Given the description of an element on the screen output the (x, y) to click on. 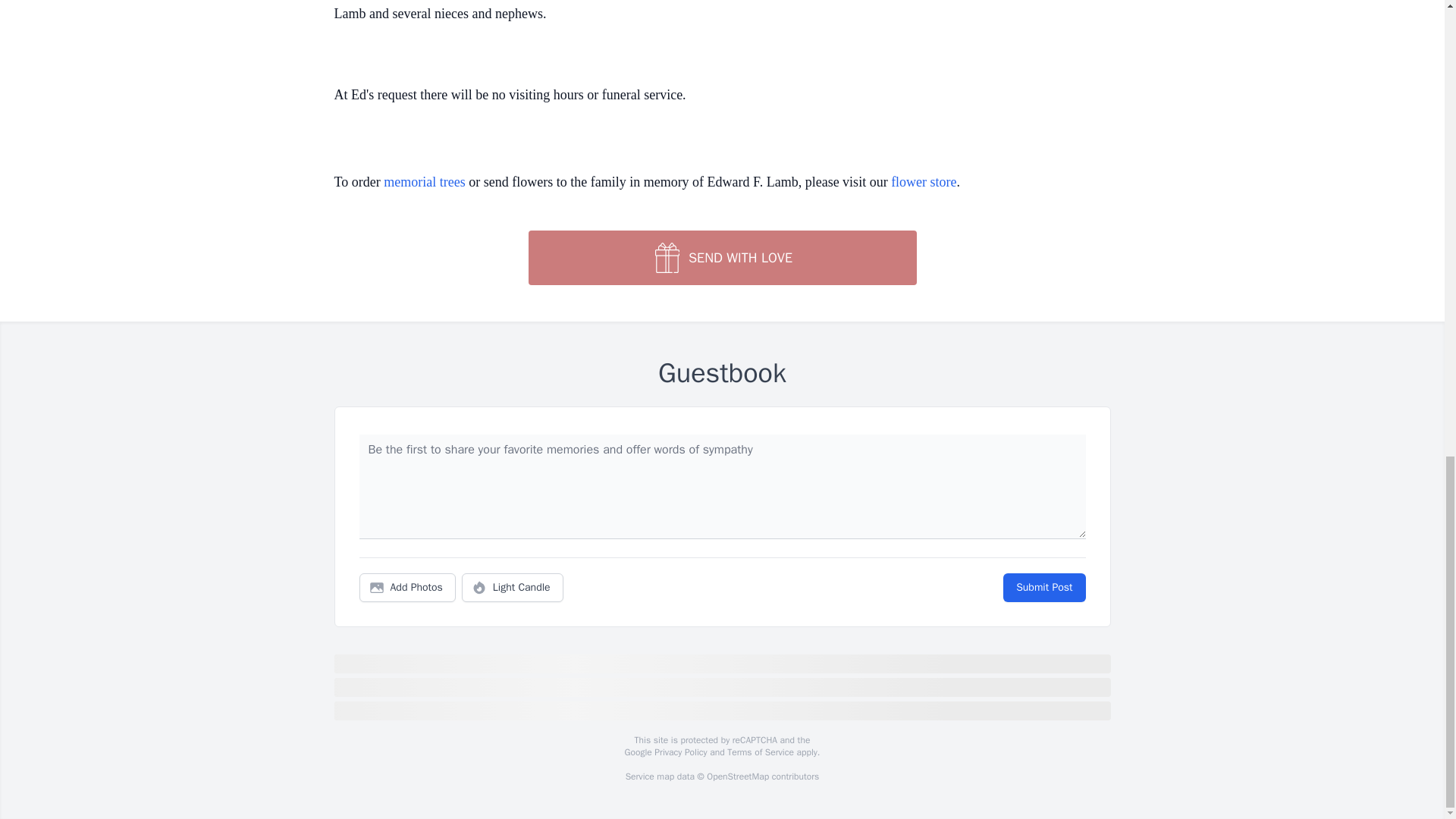
Privacy Policy (679, 752)
memorial trees (424, 181)
OpenStreetMap (737, 776)
flower store (923, 181)
Light Candle (512, 587)
Terms of Service (759, 752)
Submit Post (1043, 587)
Add Photos (407, 587)
SEND WITH LOVE (721, 257)
